Given the description of an element on the screen output the (x, y) to click on. 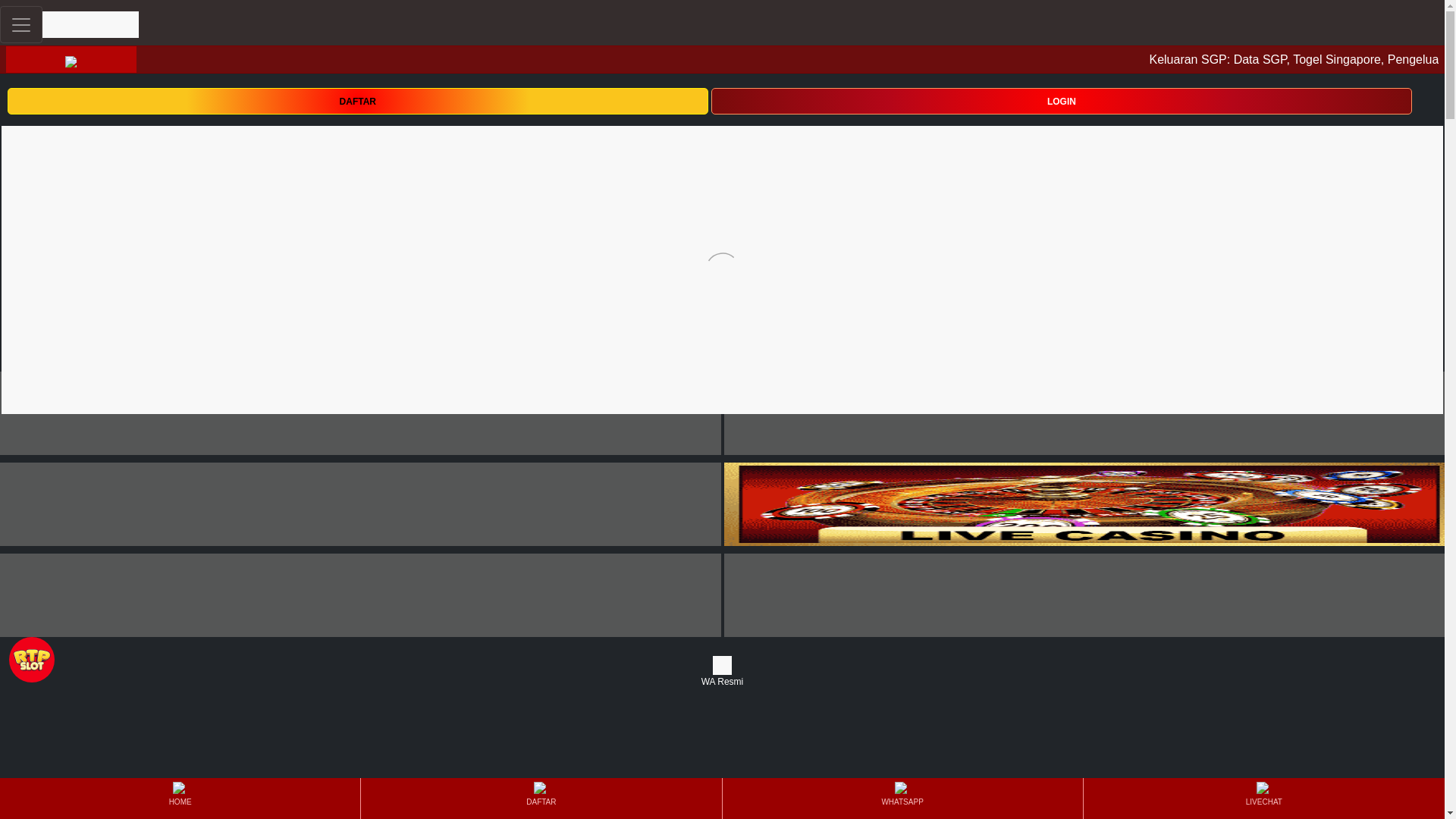
LOGIN (1061, 100)
LOGIN (1061, 100)
DAFTAR (357, 100)
HOME (179, 798)
LIVECHAT (1263, 798)
DAFTAR (540, 798)
WHATSAPP (901, 798)
DAFTAR (357, 100)
WA Resmi (722, 672)
